Given the description of an element on the screen output the (x, y) to click on. 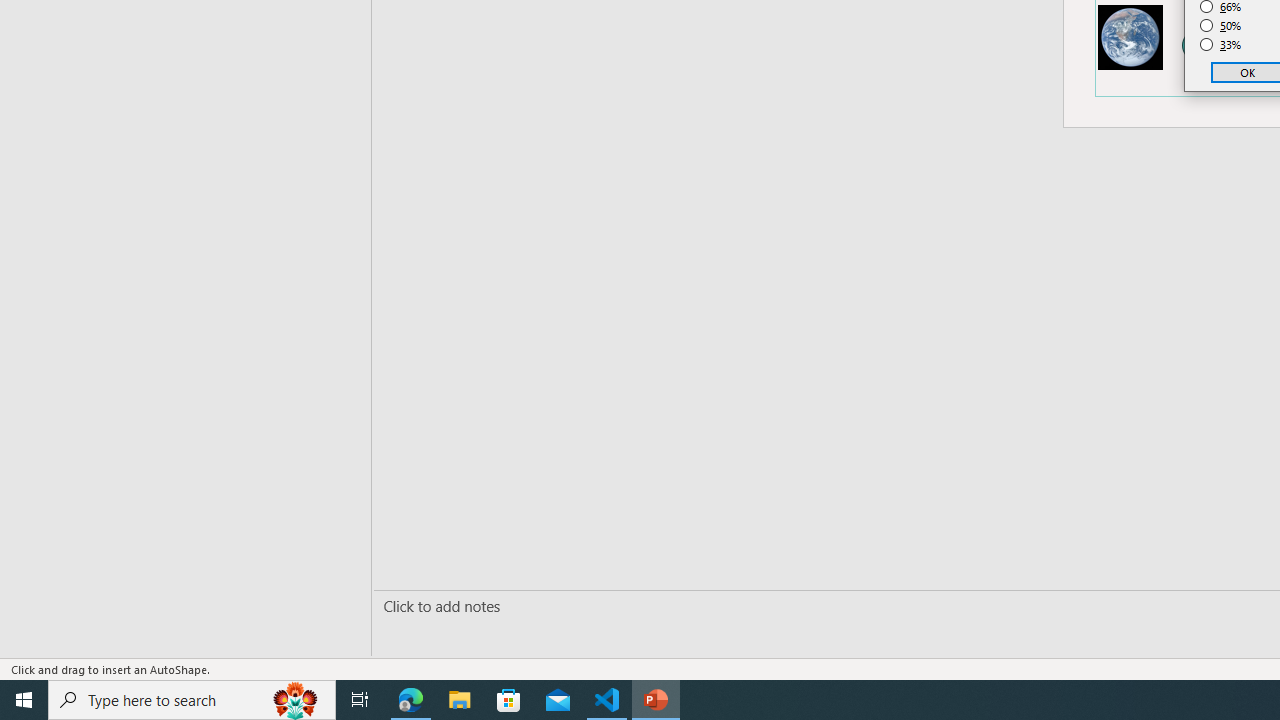
50% (1221, 25)
33% (1221, 44)
